Given the description of an element on the screen output the (x, y) to click on. 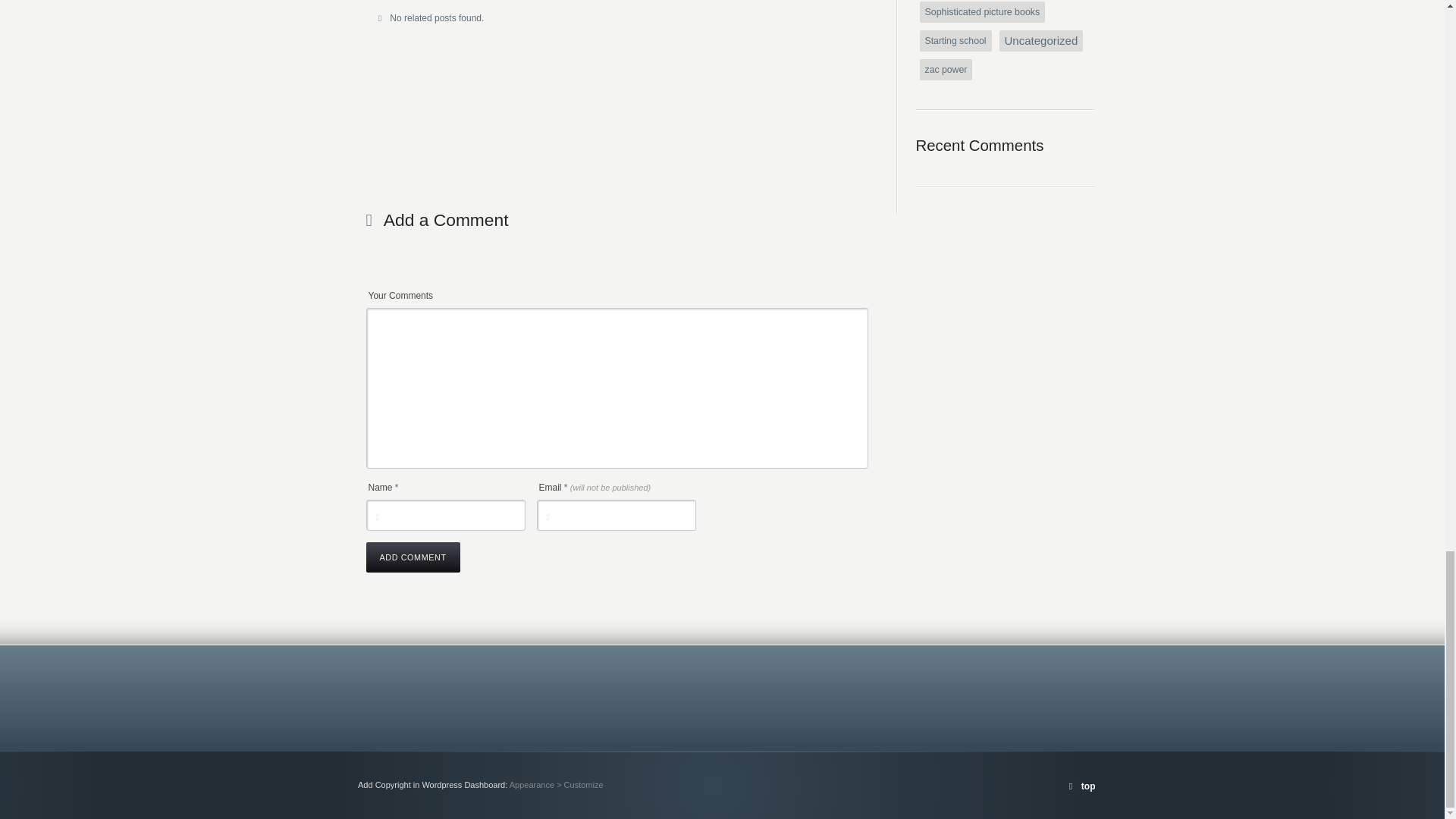
Add Comment (412, 557)
Add Comment (412, 557)
